Given the description of an element on the screen output the (x, y) to click on. 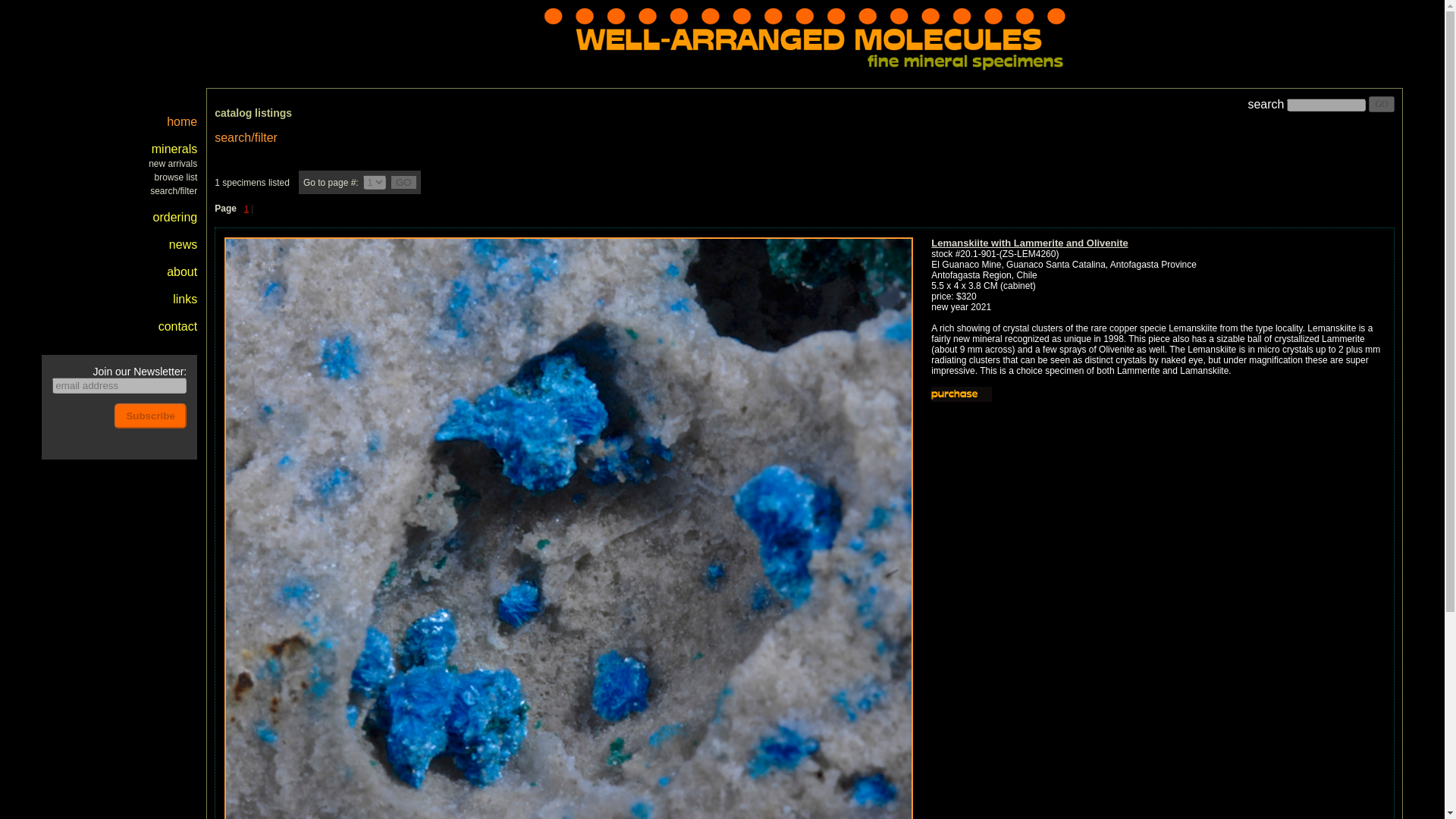
ordering (175, 216)
GO (403, 182)
GO (1380, 104)
GO (1380, 104)
new arrivals (172, 163)
Lemanskiite with Lammerite and Olivenite (1028, 242)
minerals (173, 148)
about (181, 271)
contact (178, 326)
GO (403, 182)
browse list (176, 176)
Subscribe (150, 415)
home (181, 121)
Subscribe (150, 415)
links (184, 298)
